Given the description of an element on the screen output the (x, y) to click on. 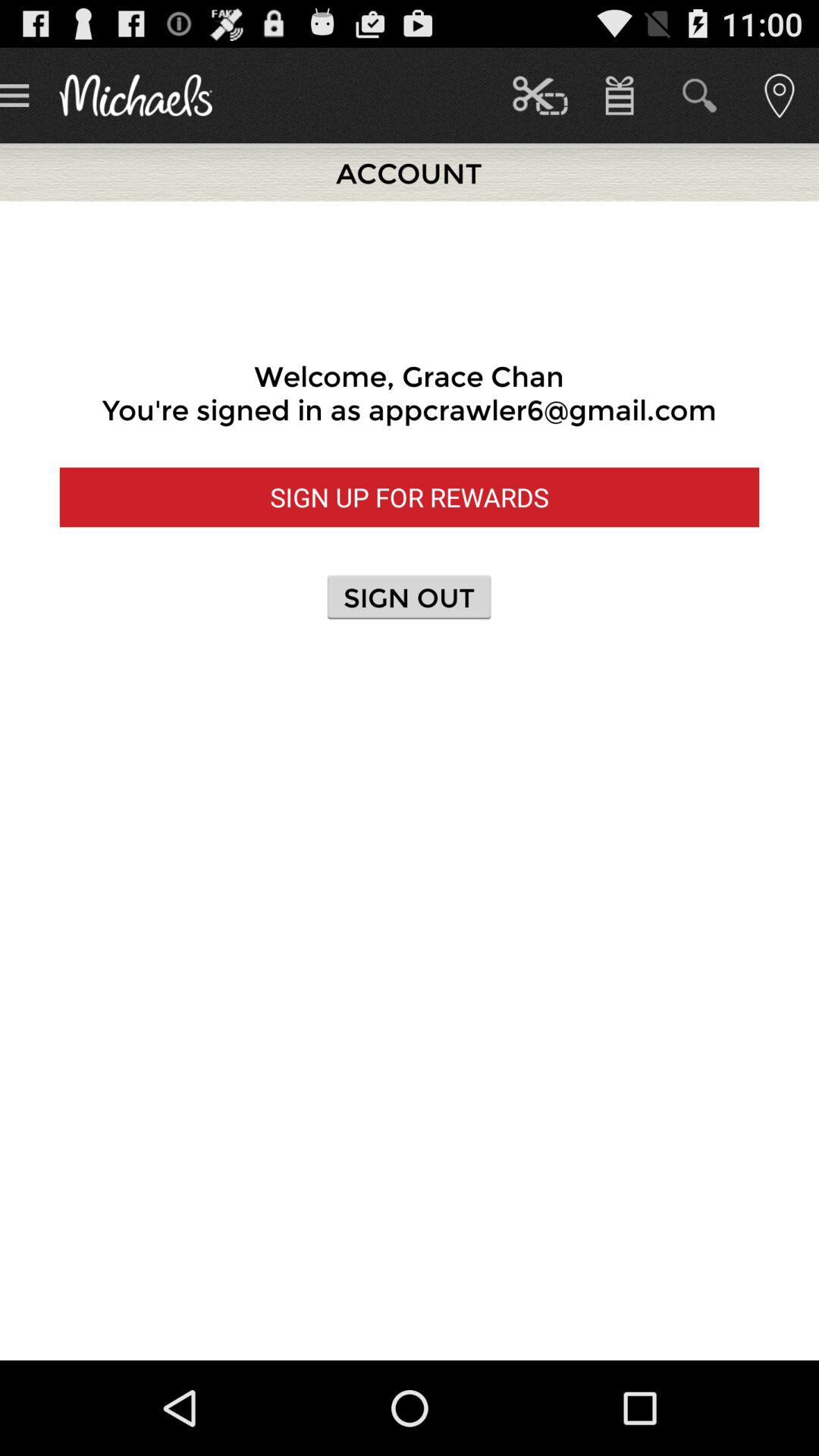
select icon above the sign out icon (409, 497)
